Given the description of an element on the screen output the (x, y) to click on. 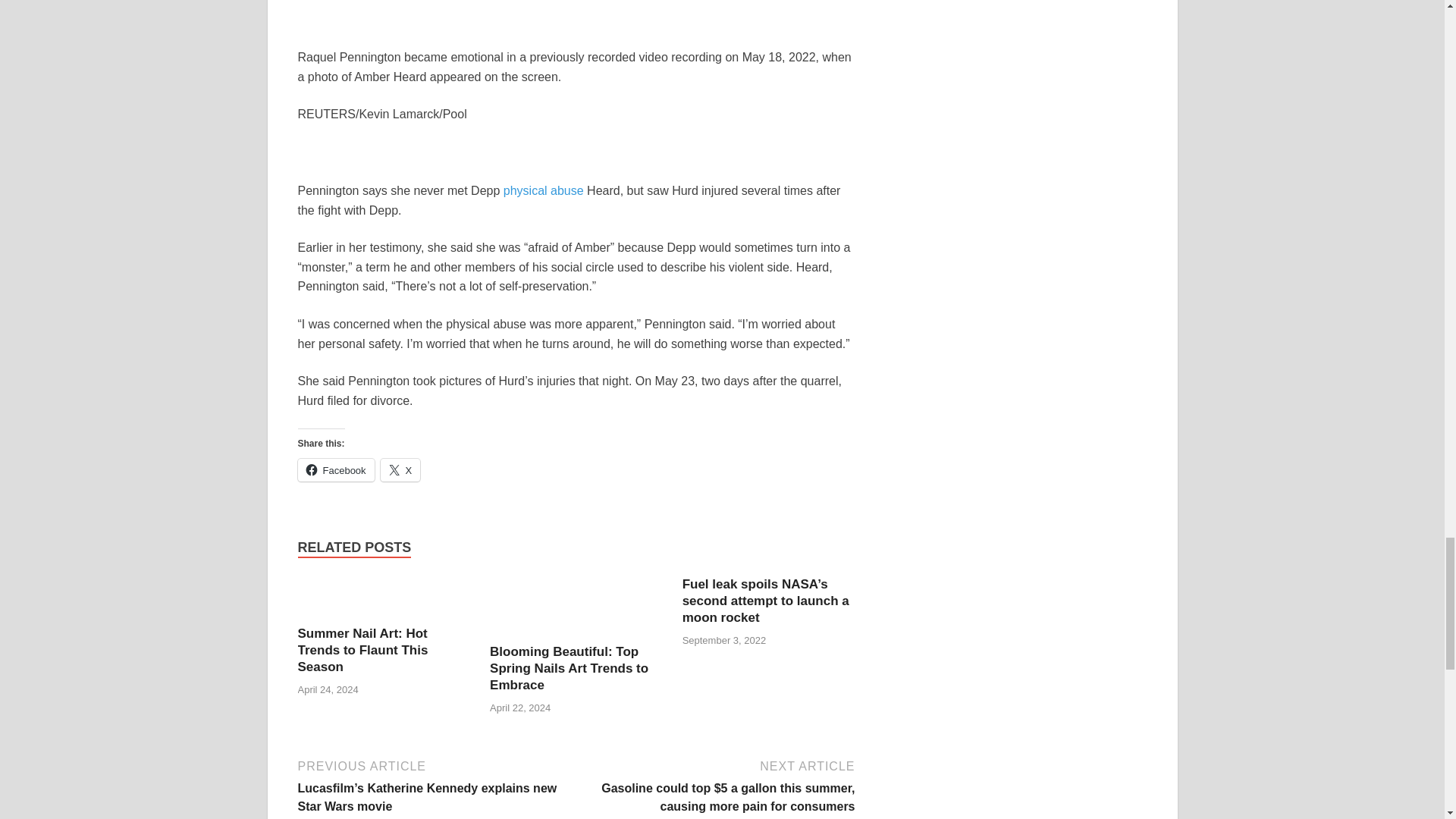
Summer Nail Art: Hot Trends to Flaunt This Season (362, 650)
Blooming Beautiful: Top Spring Nails Art Trends to Embrace (568, 668)
Summer Nail Art: Hot Trends to Flaunt This Season (383, 599)
Click to share on X (400, 469)
Facebook (335, 469)
Summer Nail Art: Hot Trends to Flaunt This Season (362, 650)
Blooming Beautiful: Top Spring Nails Art Trends to Embrace (575, 608)
Blooming Beautiful: Top Spring Nails Art Trends to Embrace (568, 668)
X (400, 469)
physical abuse (543, 190)
